Given the description of an element on the screen output the (x, y) to click on. 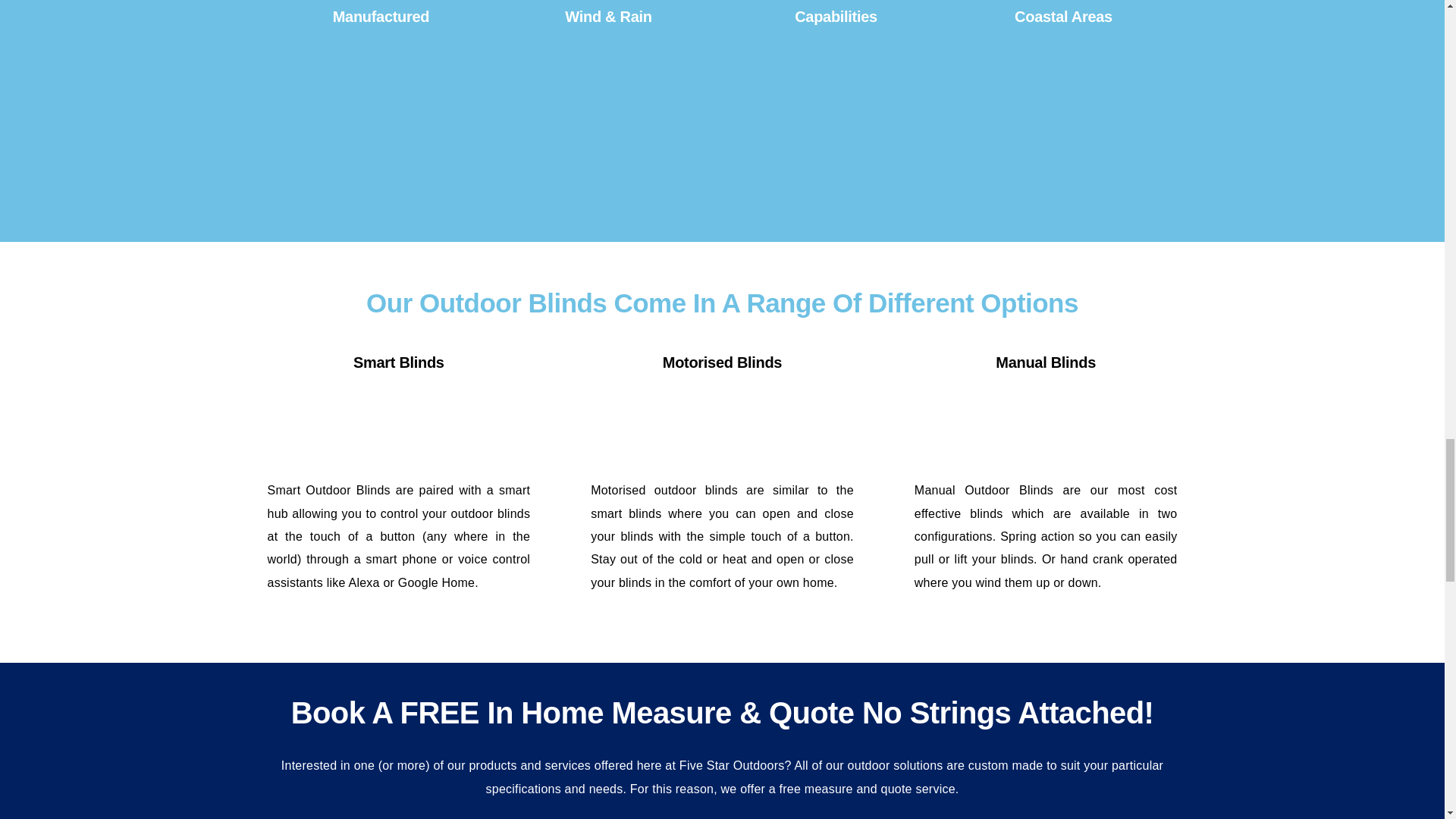
Manual Outdoor Blinds Adelaide (1045, 423)
Smart Outdoor Blinds Adelaide (398, 423)
Motorised Outdoor Blinds Adelaide (721, 423)
Antiglare PNG (835, 93)
Coast PNG (1064, 93)
Kangaroo PNG (381, 93)
Shield PNG (608, 93)
